Given the description of an element on the screen output the (x, y) to click on. 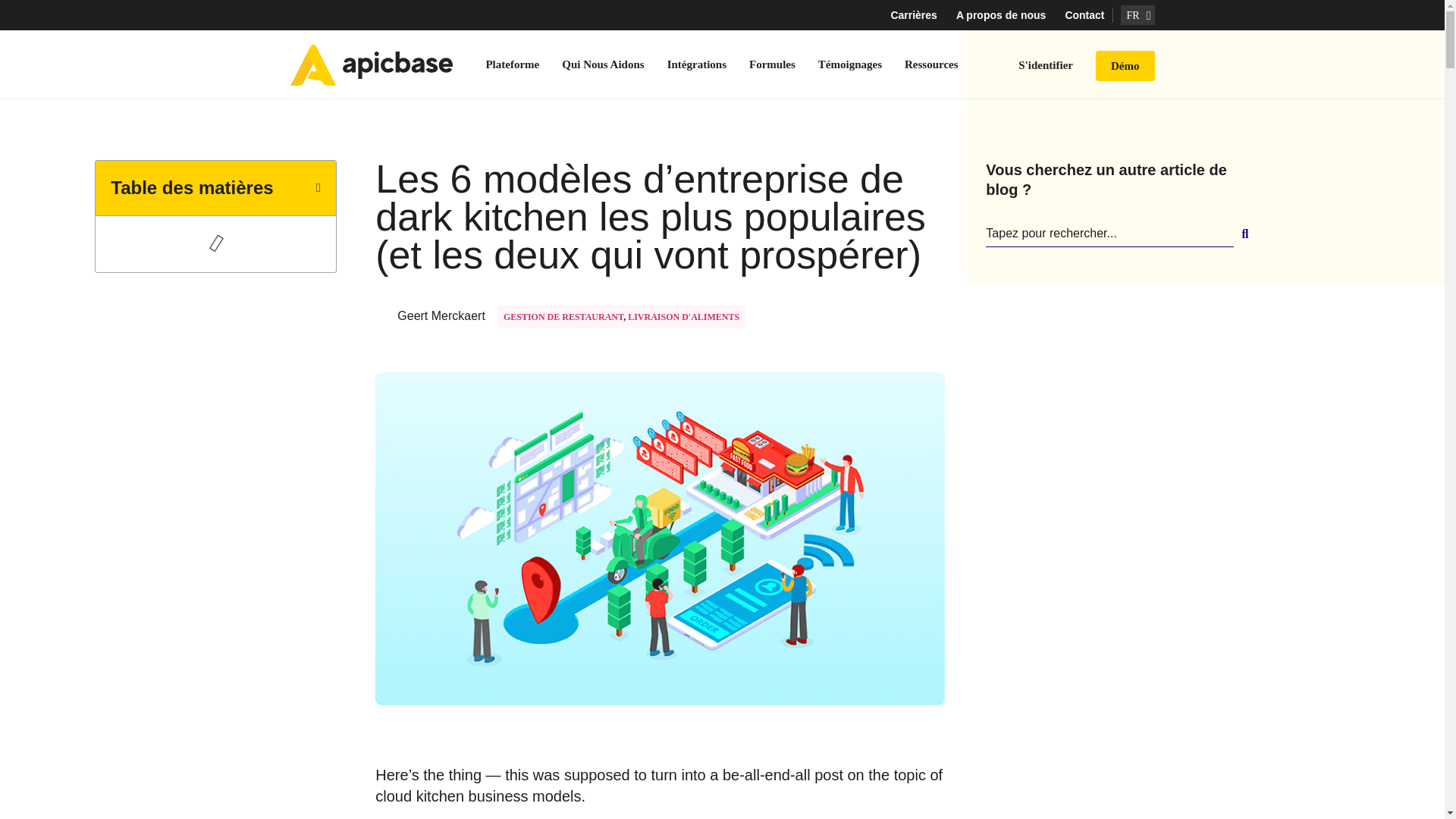
Qui Nous Aidons (602, 63)
Contact (1083, 14)
FR (1137, 14)
A propos de nous (1000, 14)
Plateforme (512, 63)
